Given the description of an element on the screen output the (x, y) to click on. 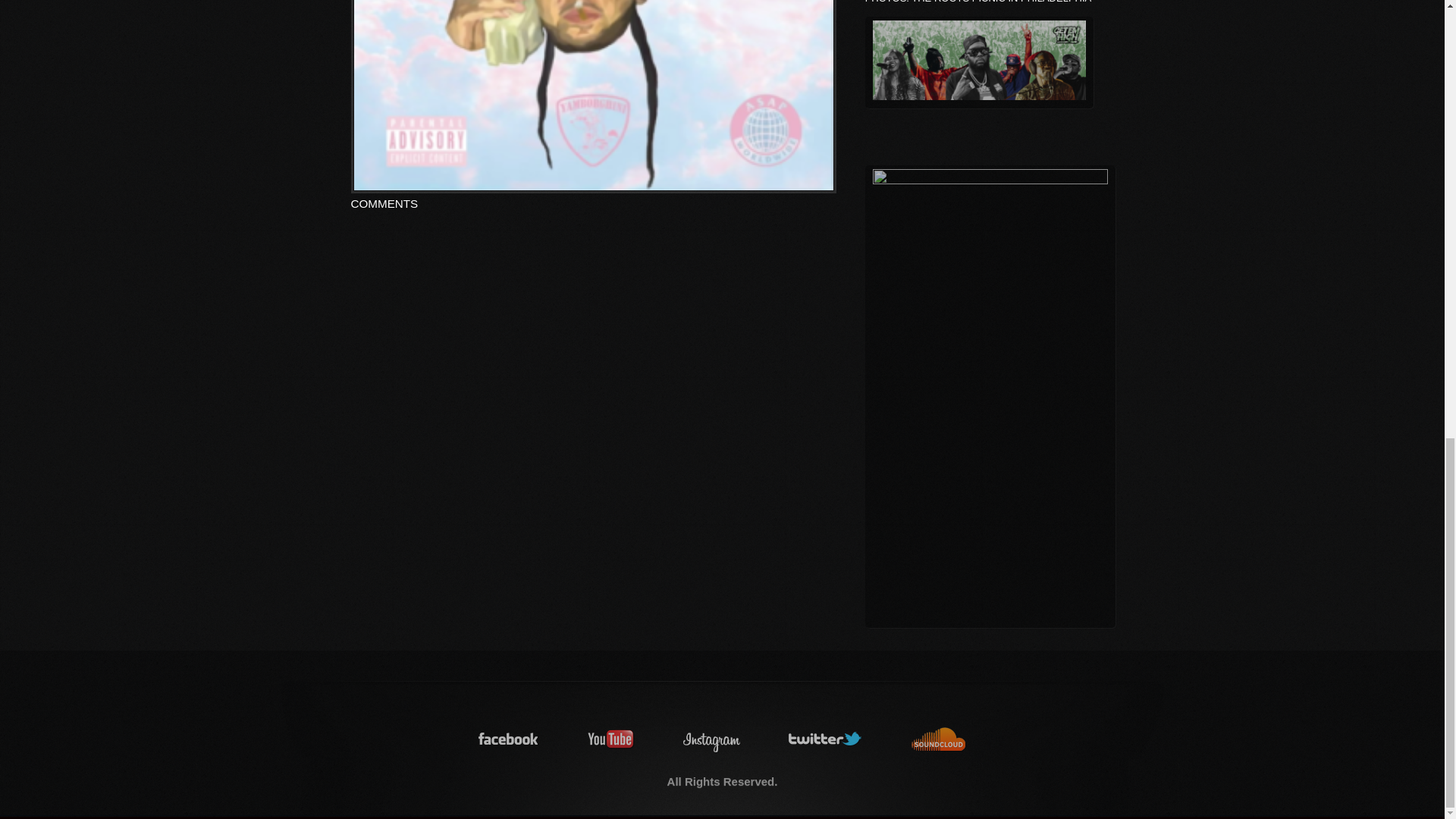
facebook (508, 739)
youtube (611, 739)
soundcloud (938, 739)
twitter (826, 739)
instagram (710, 739)
